Given the description of an element on the screen output the (x, y) to click on. 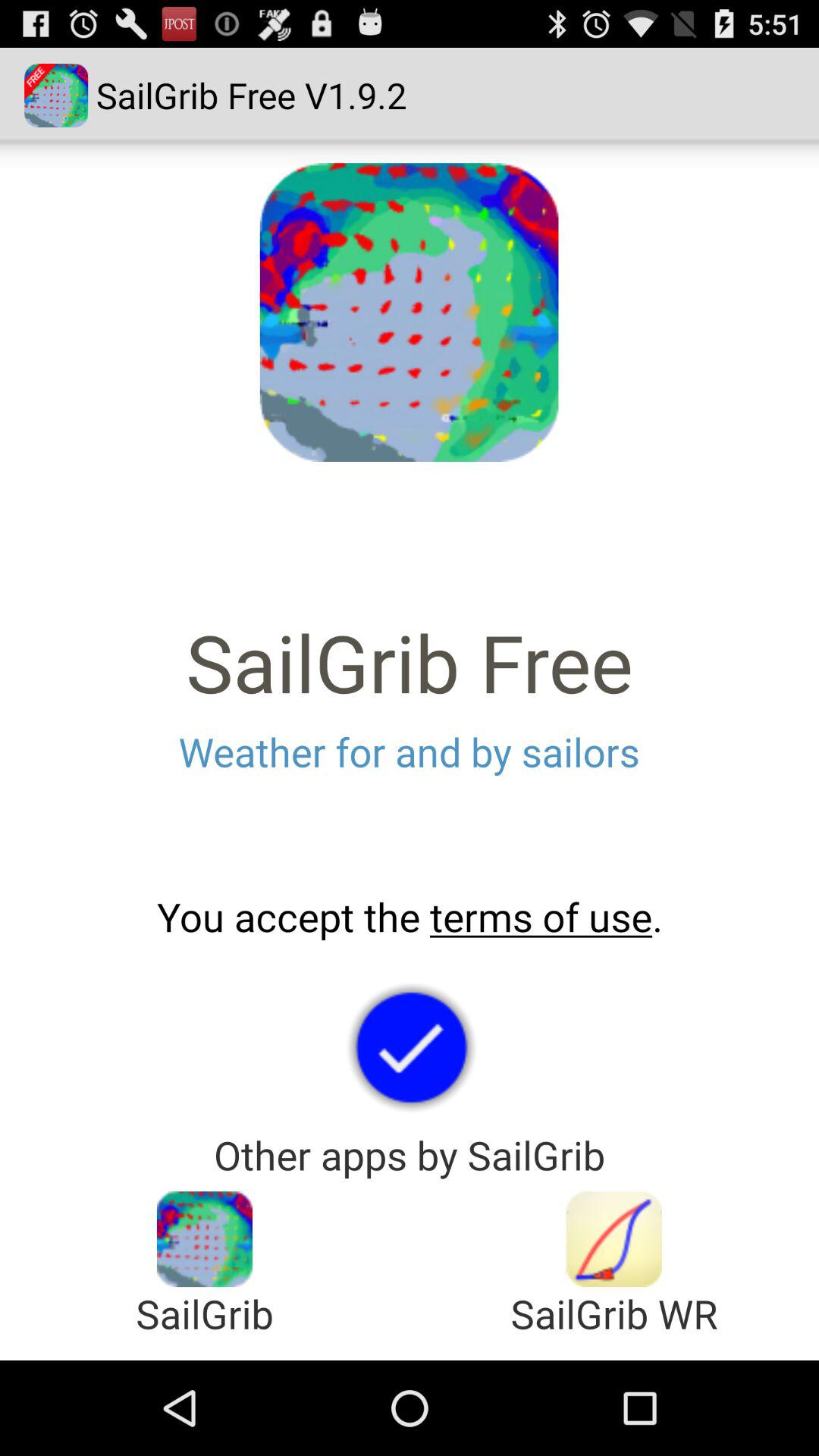
press the you accept the item (409, 916)
